Given the description of an element on the screen output the (x, y) to click on. 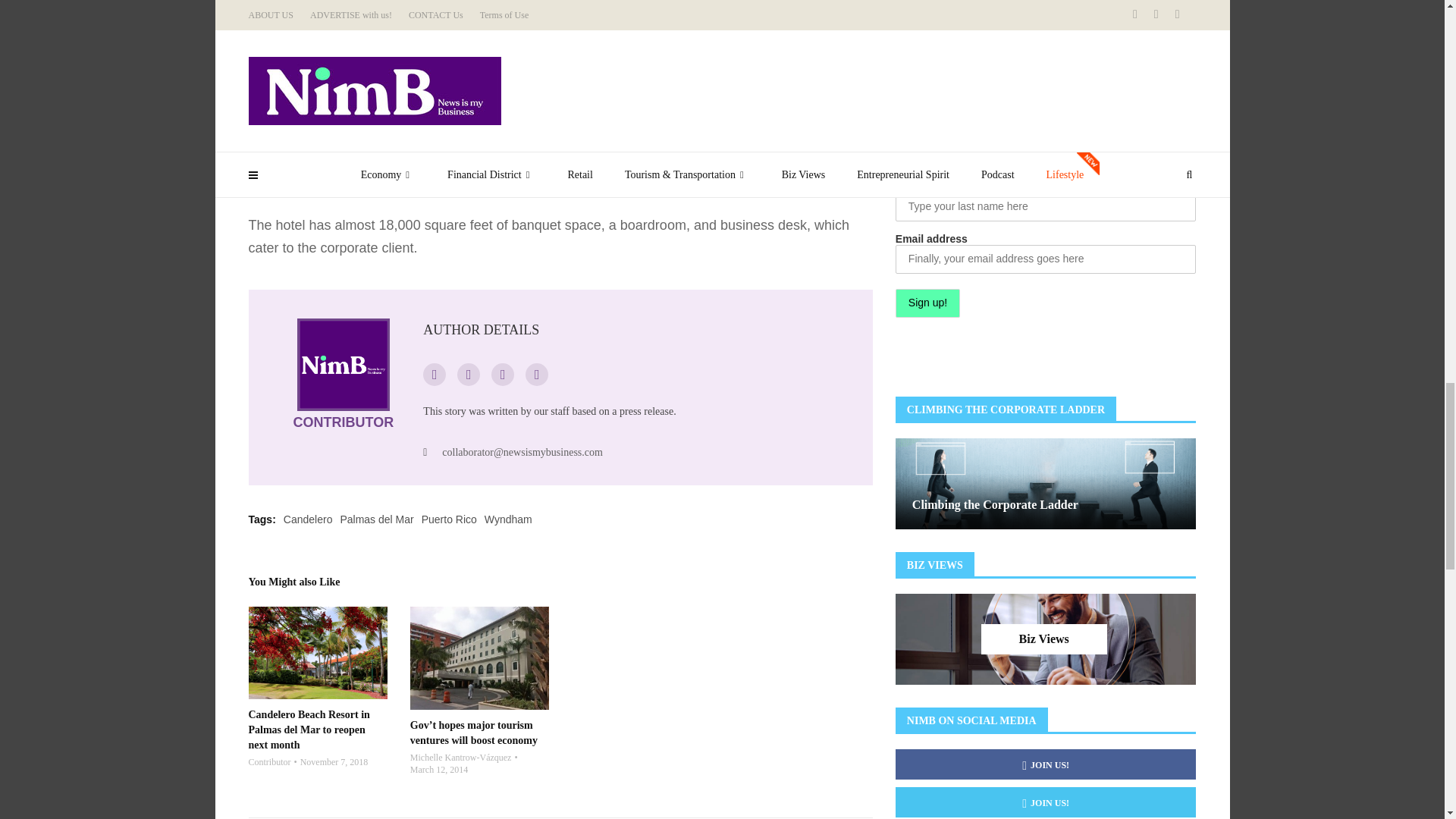
Sign up! (927, 303)
